Given the description of an element on the screen output the (x, y) to click on. 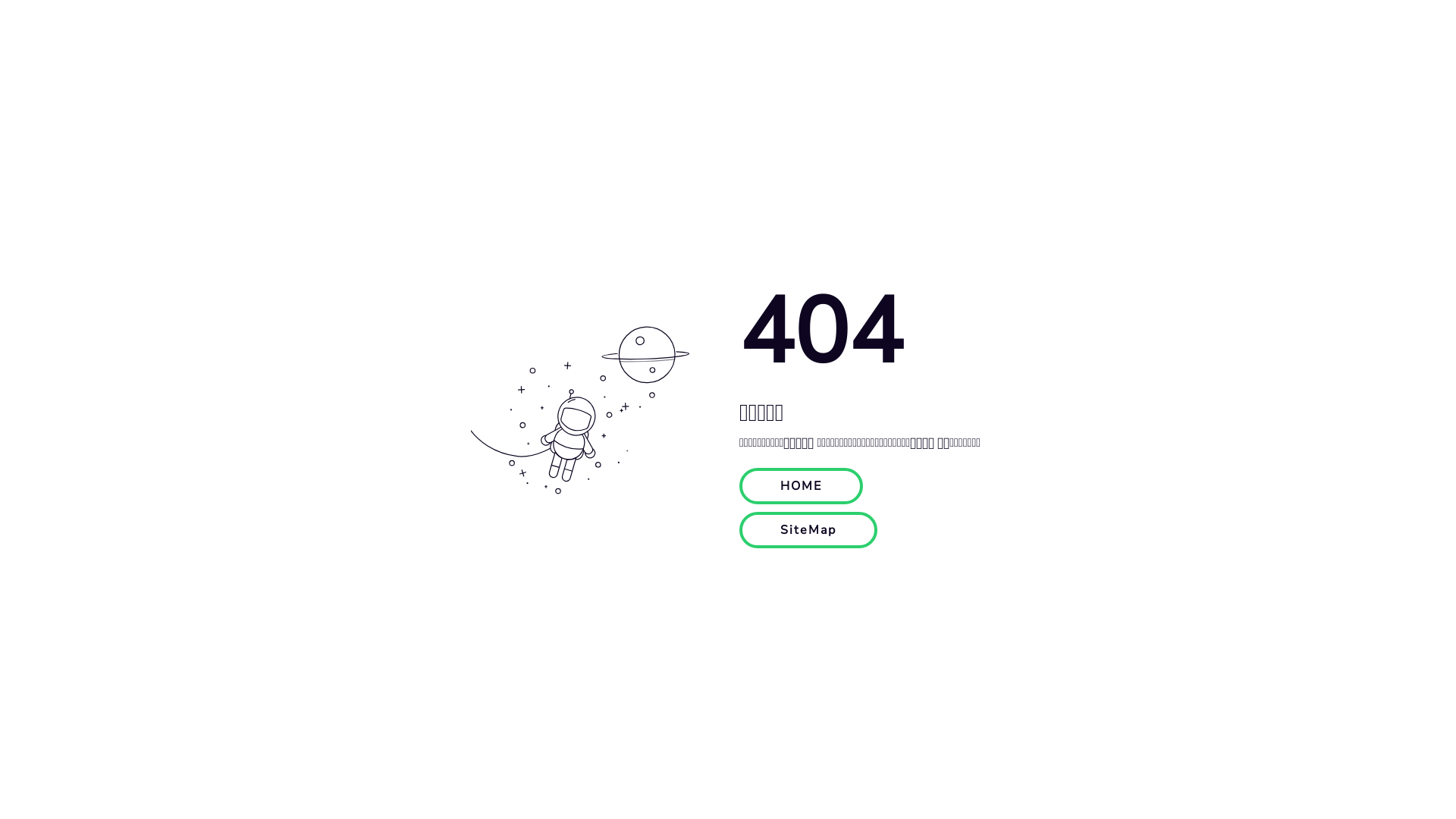
HOME Element type: text (800, 485)
SiteMap Element type: text (808, 529)
HOME Element type: text (800, 484)
SiteMap Element type: text (808, 528)
